Given the description of an element on the screen output the (x, y) to click on. 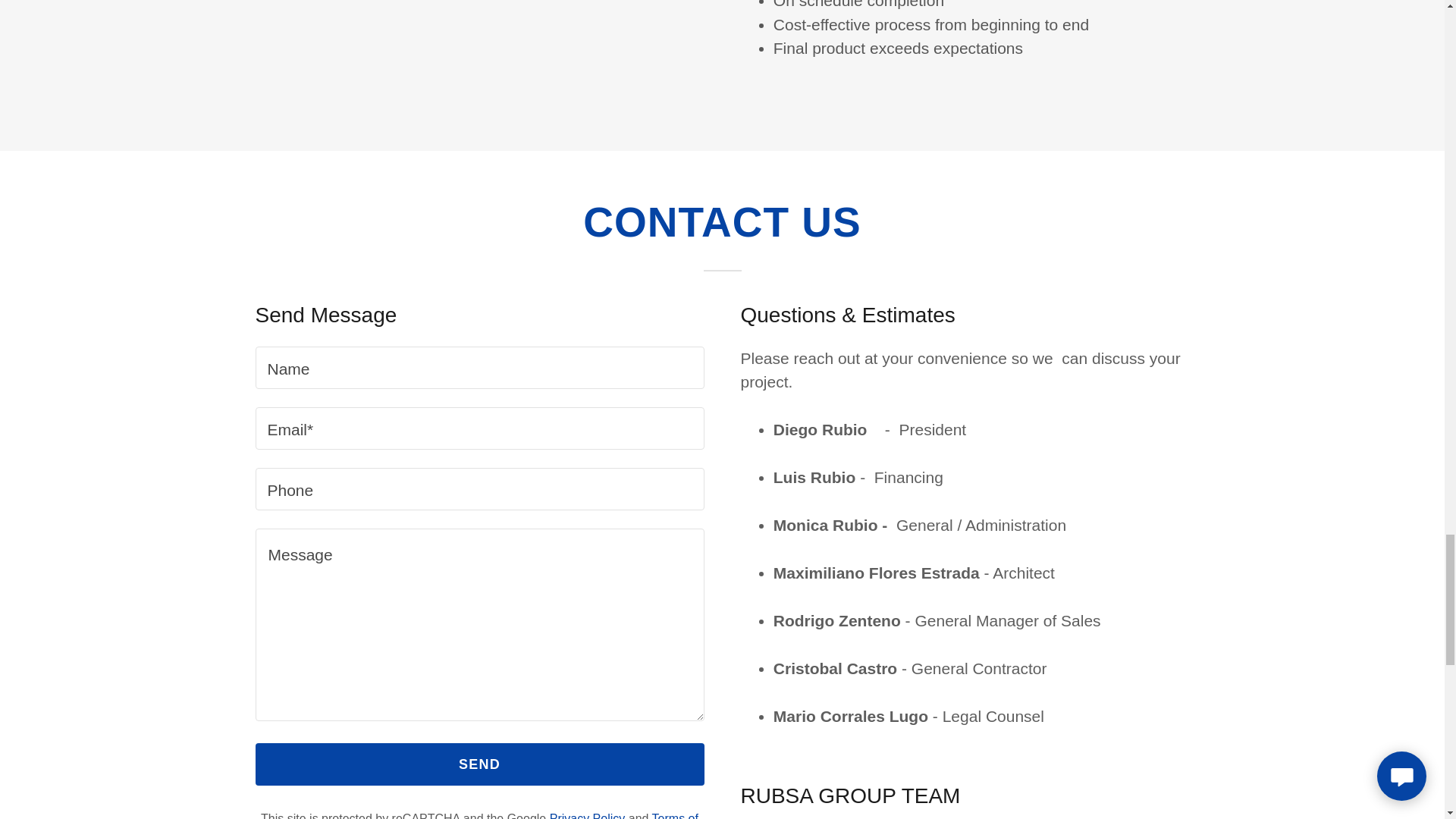
Privacy Policy (588, 815)
SEND (478, 763)
Terms of Service (570, 815)
